Given the description of an element on the screen output the (x, y) to click on. 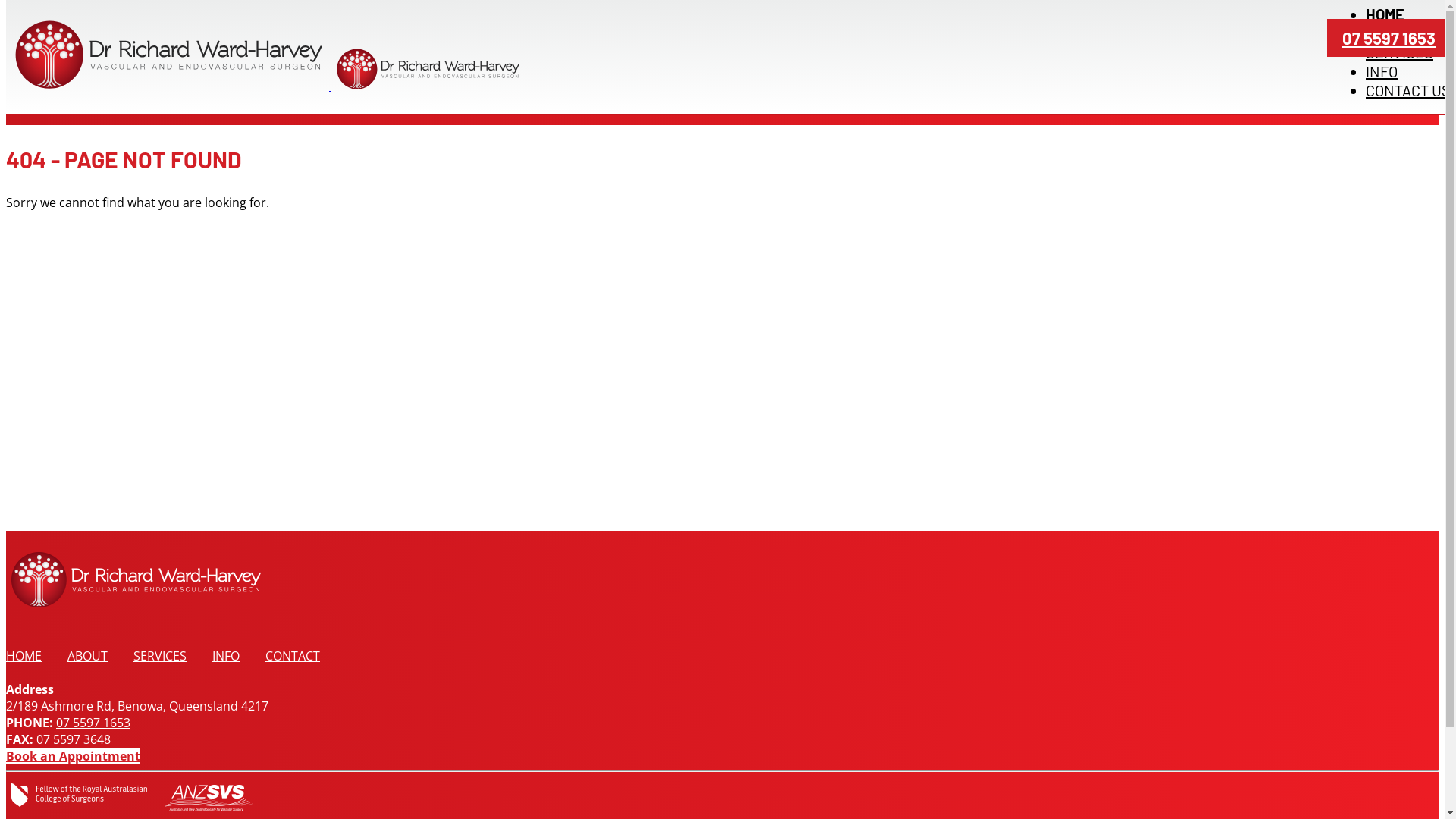
ABOUT Element type: text (1388, 33)
HOME Element type: text (1384, 14)
SERVICES Element type: text (1399, 52)
INFO Element type: text (225, 655)
HOME Element type: text (23, 655)
07 5597 1653 Element type: text (1388, 37)
CONTACT US Element type: text (1407, 90)
CONTACT Element type: text (292, 655)
Book an Appointment Element type: text (73, 755)
ABOUT Element type: text (87, 655)
INFO Element type: text (1381, 71)
07 5597 1653 Element type: text (93, 722)
SERVICES Element type: text (159, 655)
